Given the description of an element on the screen output the (x, y) to click on. 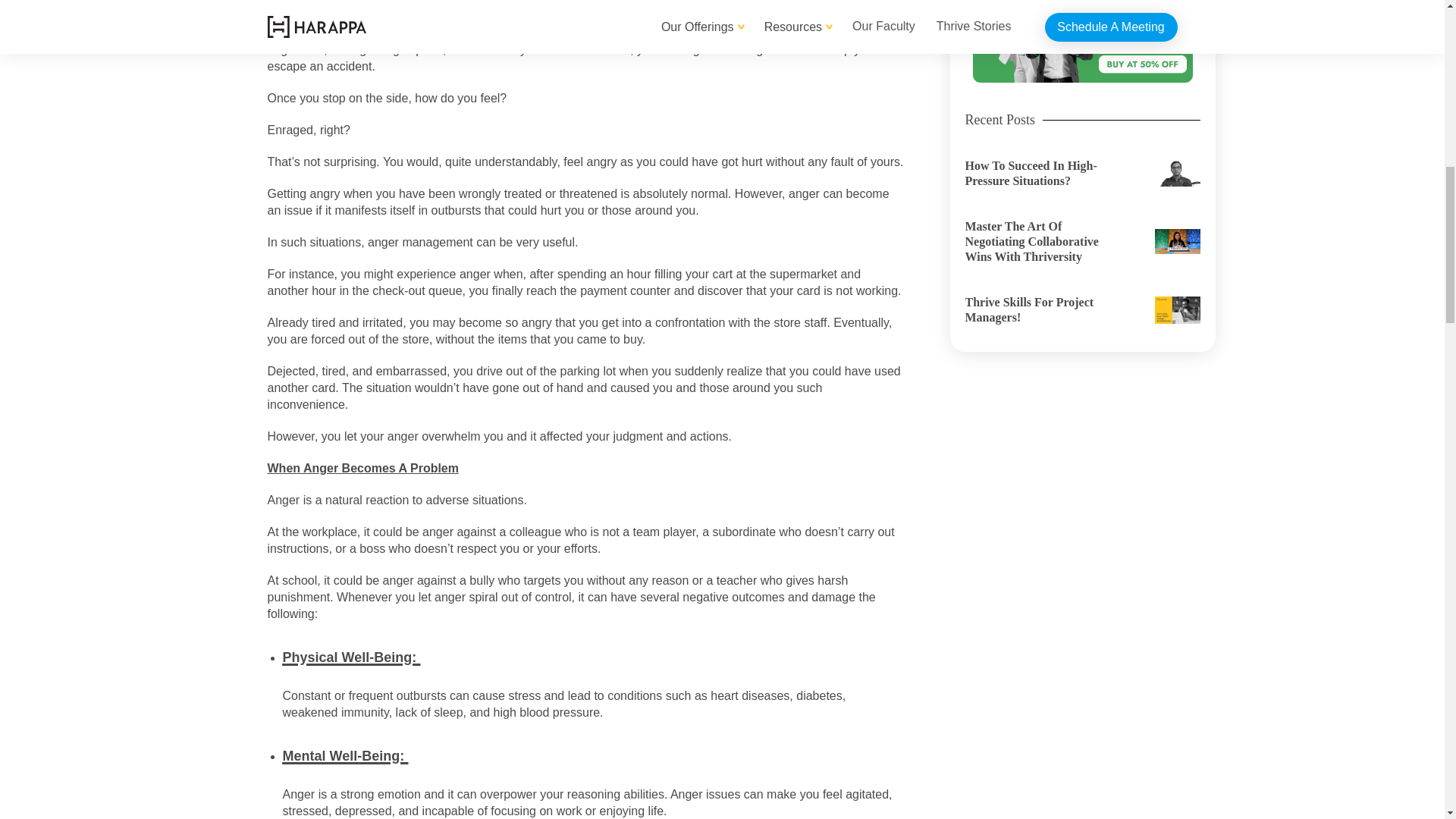
WMPbannersidenav (1082, 41)
Thrive Skills For Project Managers! (1081, 309)
How To Succeed In High-Pressure Situations? (1081, 173)
